Given the description of an element on the screen output the (x, y) to click on. 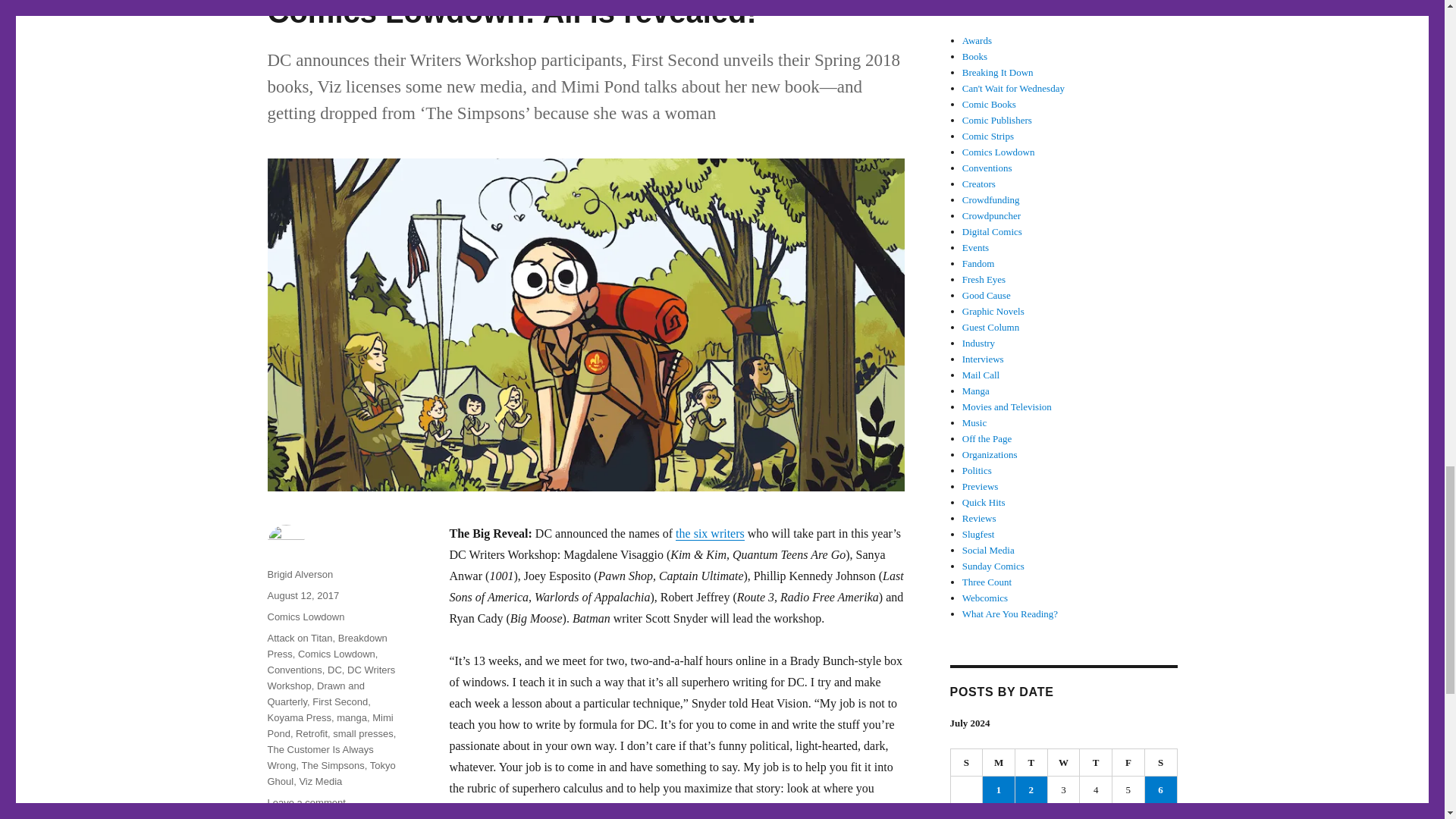
Tuesday (1031, 762)
Friday (1128, 762)
Monday (998, 762)
Wednesday (1064, 762)
Sunday (967, 762)
Thursday (1096, 762)
